Given the description of an element on the screen output the (x, y) to click on. 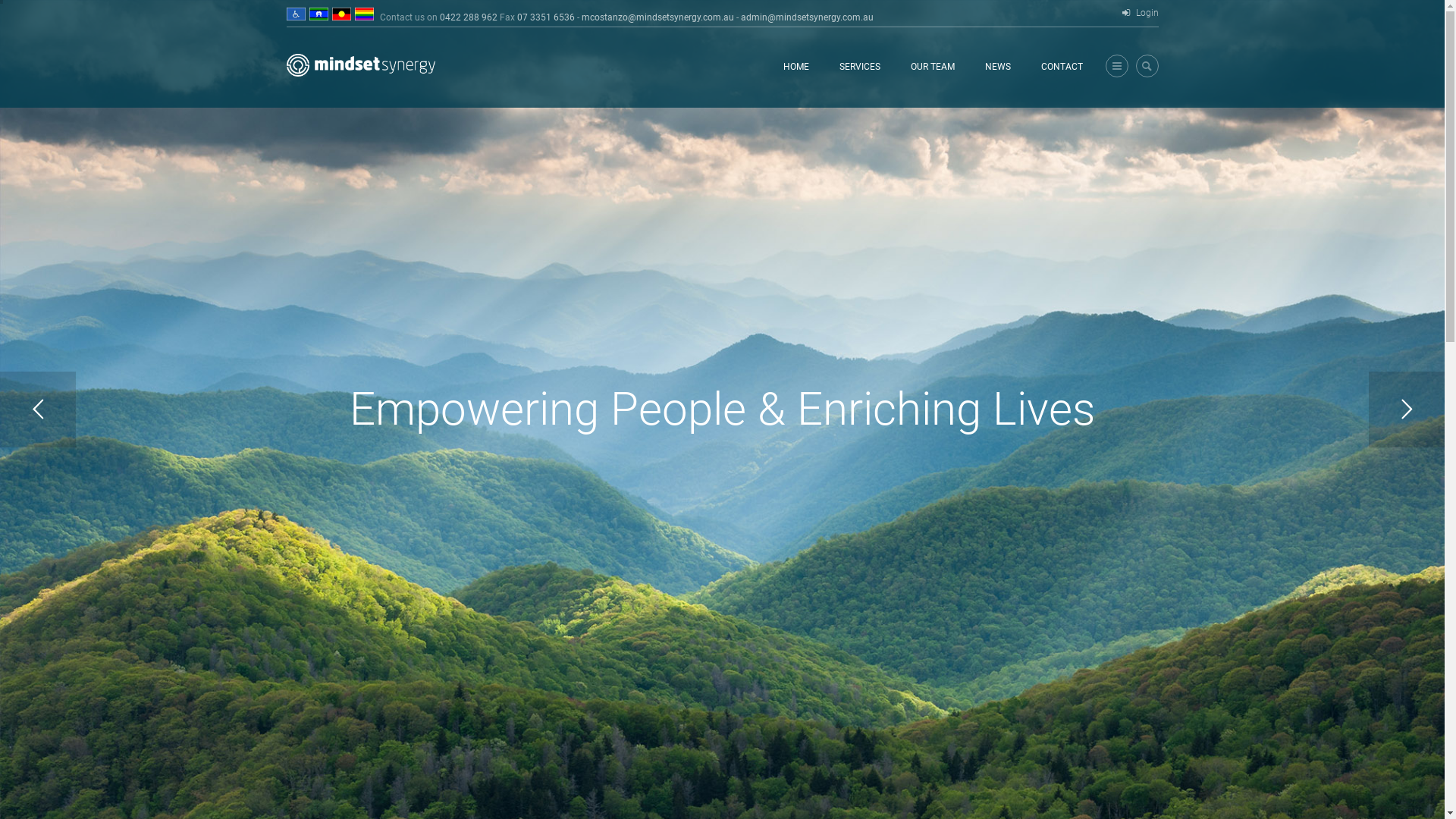
SERVICES Element type: text (858, 66)
OUR TEAM Element type: text (931, 66)
07 3351 6536 Element type: text (545, 17)
Login Element type: text (1139, 13)
NEWS Element type: text (997, 66)
Open/close search form Element type: hover (1146, 65)
HOME Element type: text (795, 66)
0422 288 962 Element type: text (468, 17)
admin@mindsetsynergy.com.au Element type: text (806, 17)
CONTACT Element type: text (1061, 66)
mcostanzo@mindsetsynergy.com.au Element type: text (656, 17)
